Given the description of an element on the screen output the (x, y) to click on. 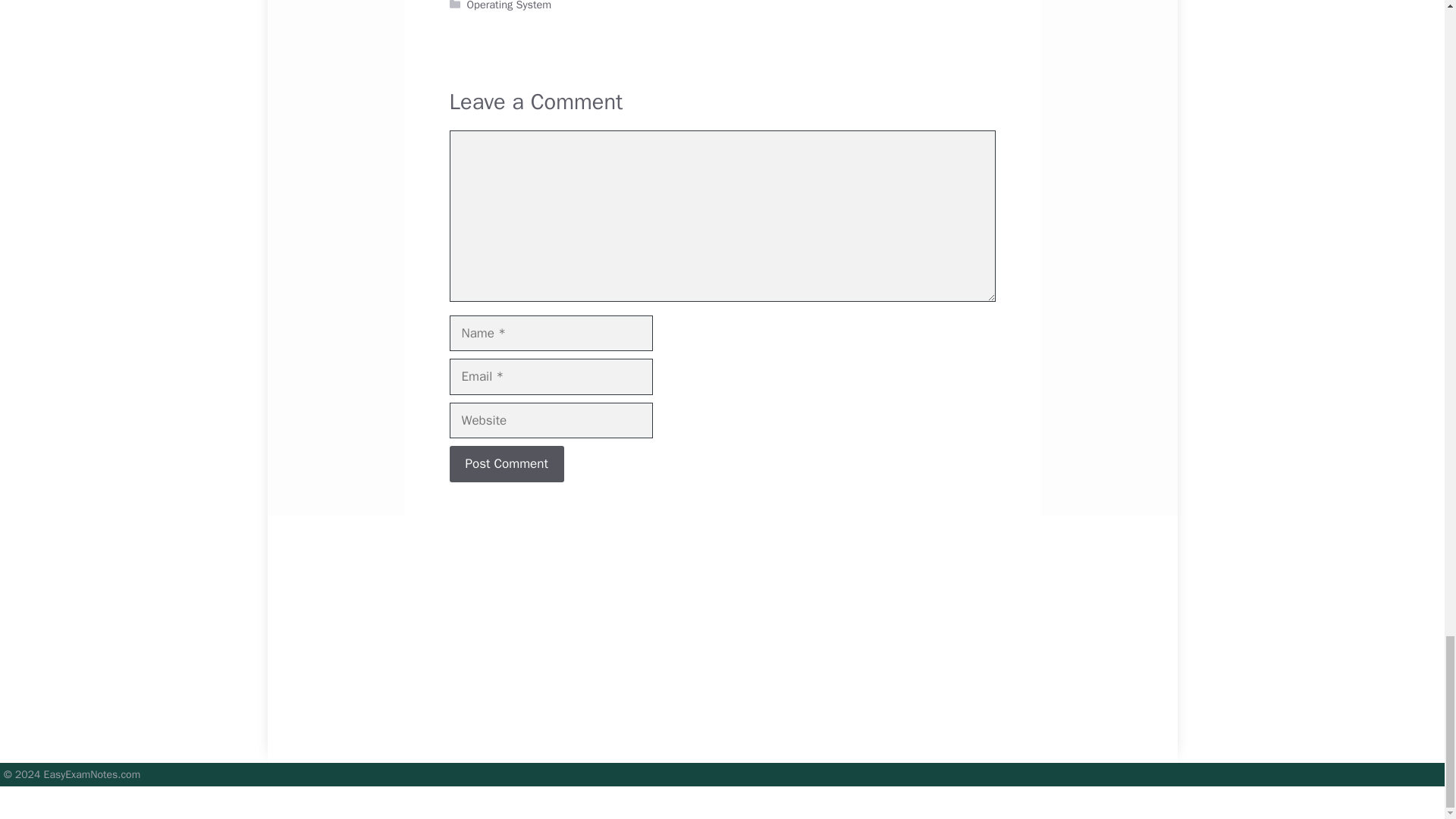
Post Comment (505, 463)
